Given the description of an element on the screen output the (x, y) to click on. 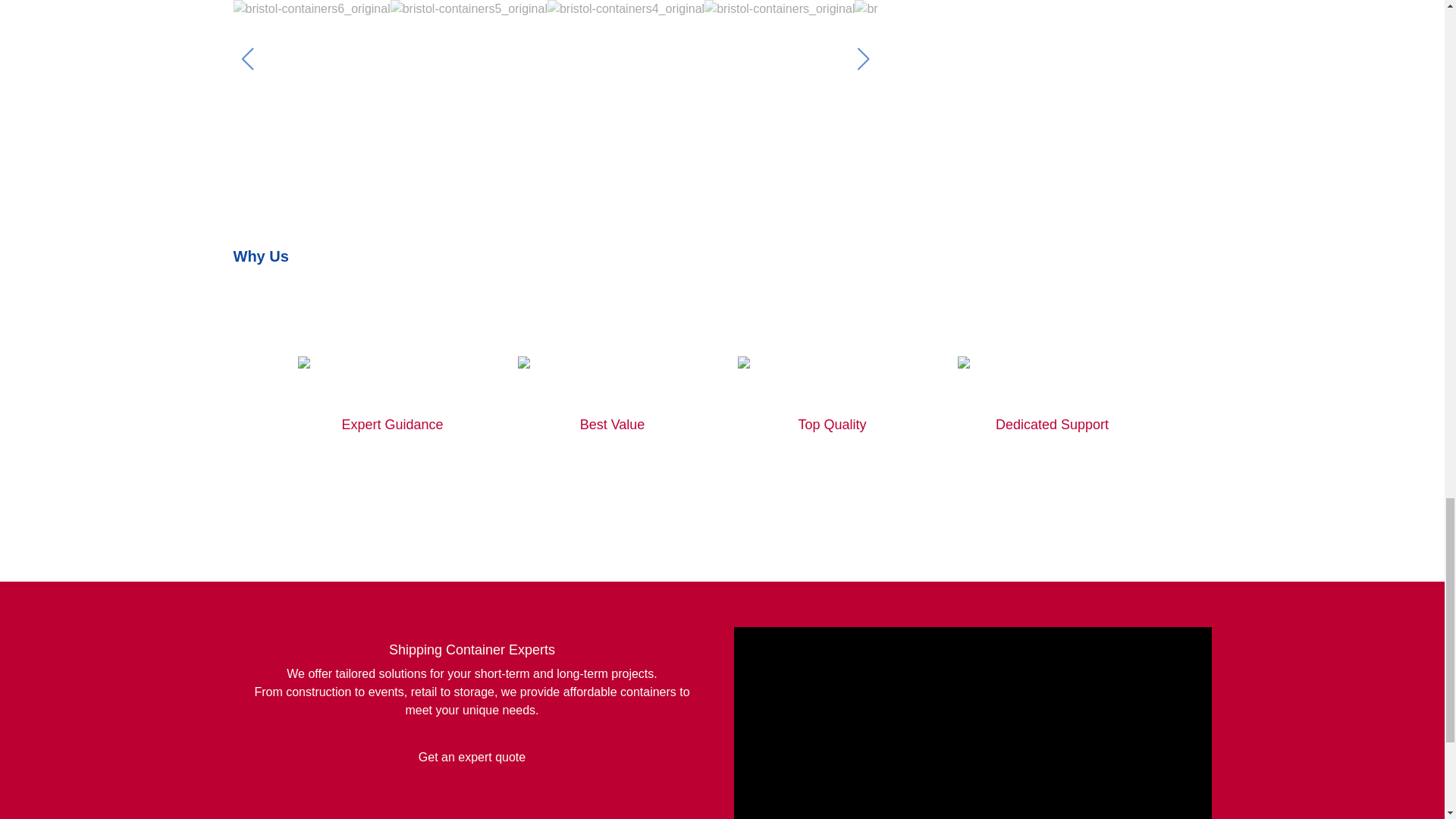
Get an expert quote (472, 757)
